Given the description of an element on the screen output the (x, y) to click on. 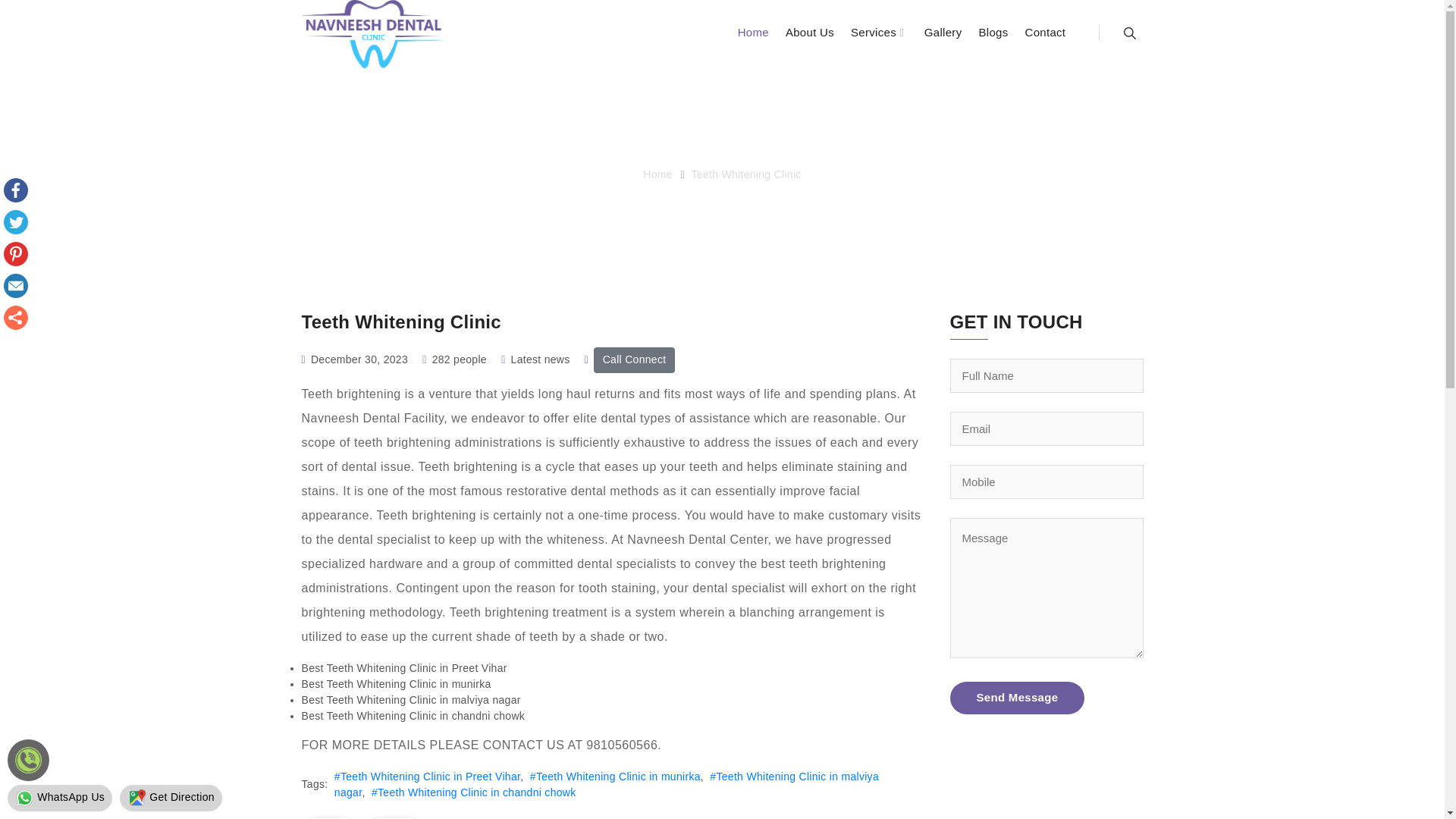
Services (878, 35)
Next (394, 817)
Contact (1045, 35)
More Options (15, 317)
Home (657, 174)
Facebook (15, 190)
Call Connect (634, 360)
Pinterest (15, 253)
Email This (15, 285)
Send Message (1016, 697)
Navneesh Dental Clinic (373, 33)
About Us (810, 35)
Prev (329, 817)
Gallery (943, 35)
Twitter (15, 221)
